Given the description of an element on the screen output the (x, y) to click on. 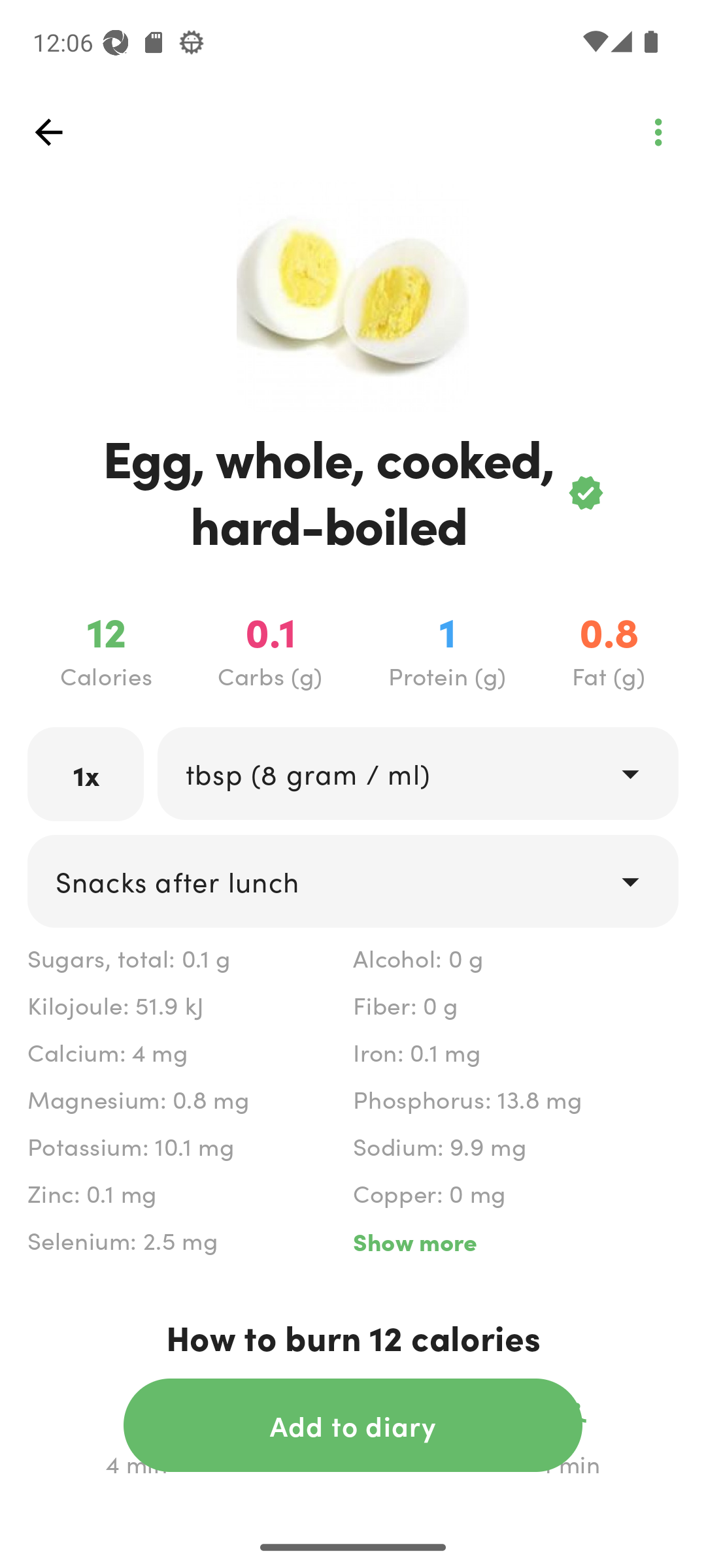
top_left_action (48, 132)
top_left_action (658, 132)
1x labeled_edit_text (85, 774)
drop_down tbsp (8 gram / ml) (417, 773)
drop_down Snacks after lunch (352, 881)
Show more (515, 1240)
action_button Add to diary (352, 1425)
